Given the description of an element on the screen output the (x, y) to click on. 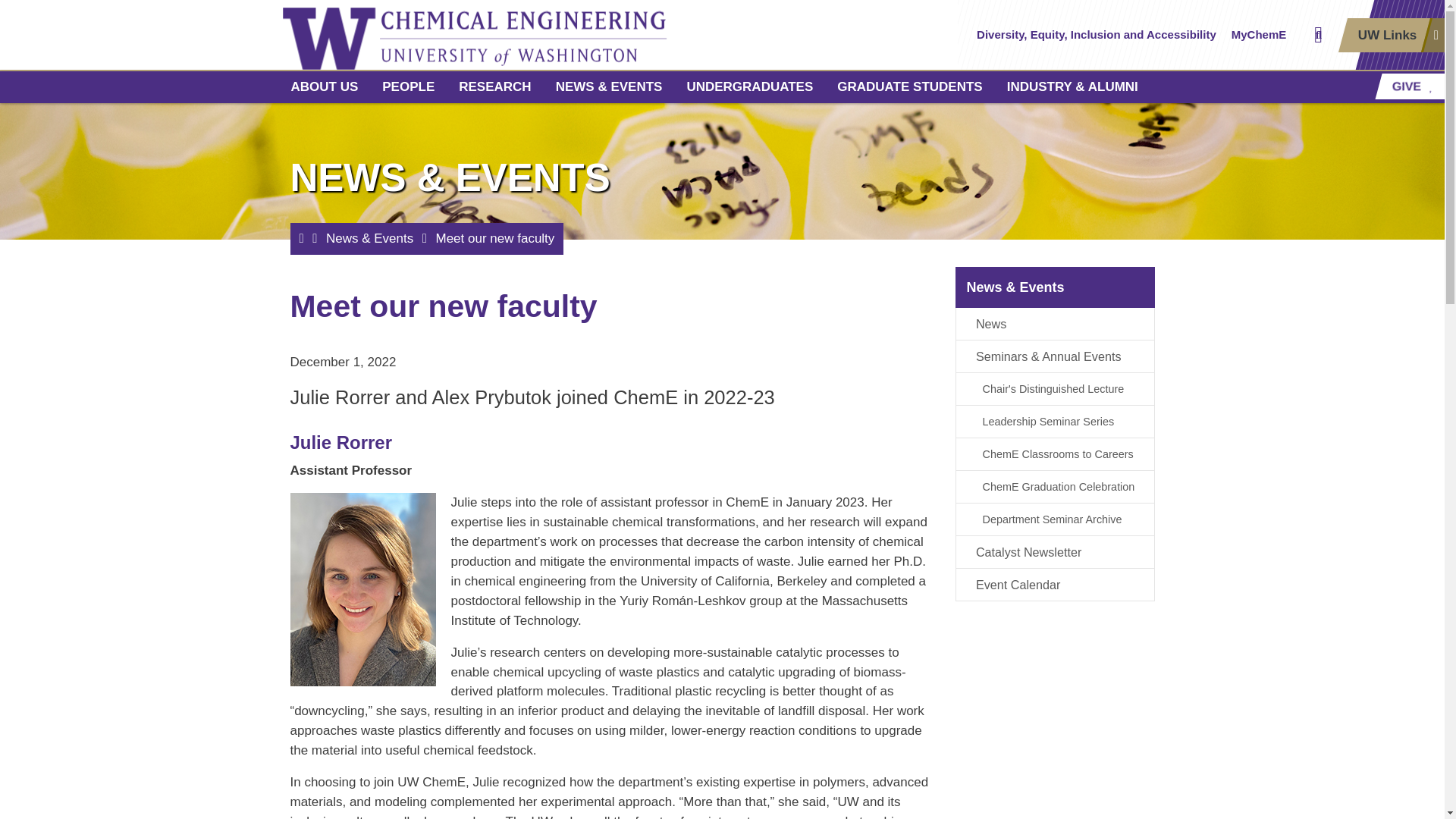
Alumni Opportunities (1072, 87)
About Us (325, 87)
PEOPLE (407, 87)
Wordmark Logo (523, 34)
ABOUT US (325, 87)
MyChemE (1259, 34)
UW Chemical Engineering (523, 34)
Diversity, Equity, Inclusion and Accessibility (1095, 34)
University of Washington Home (328, 34)
UW Links (1391, 35)
UW W Logo (328, 34)
